Given the description of an element on the screen output the (x, y) to click on. 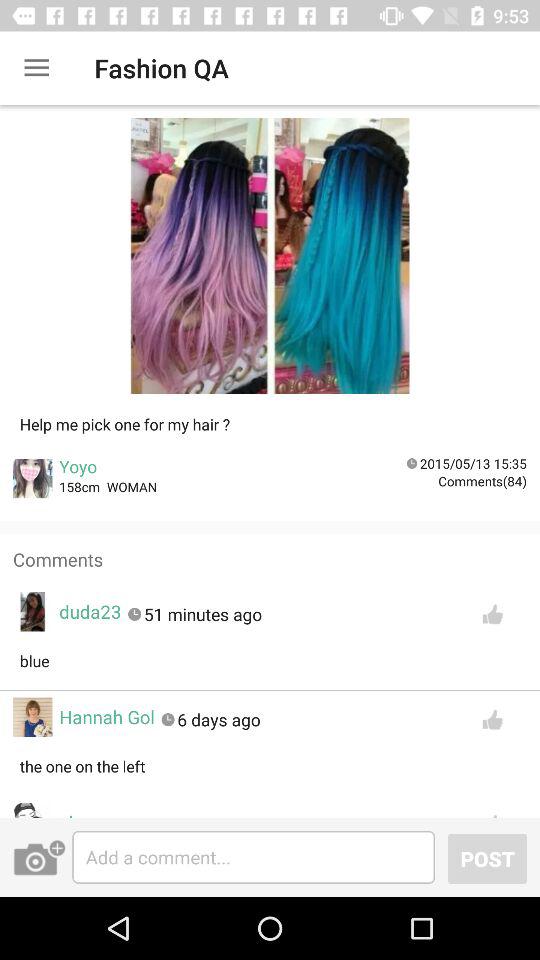
like the comment (492, 811)
